Given the description of an element on the screen output the (x, y) to click on. 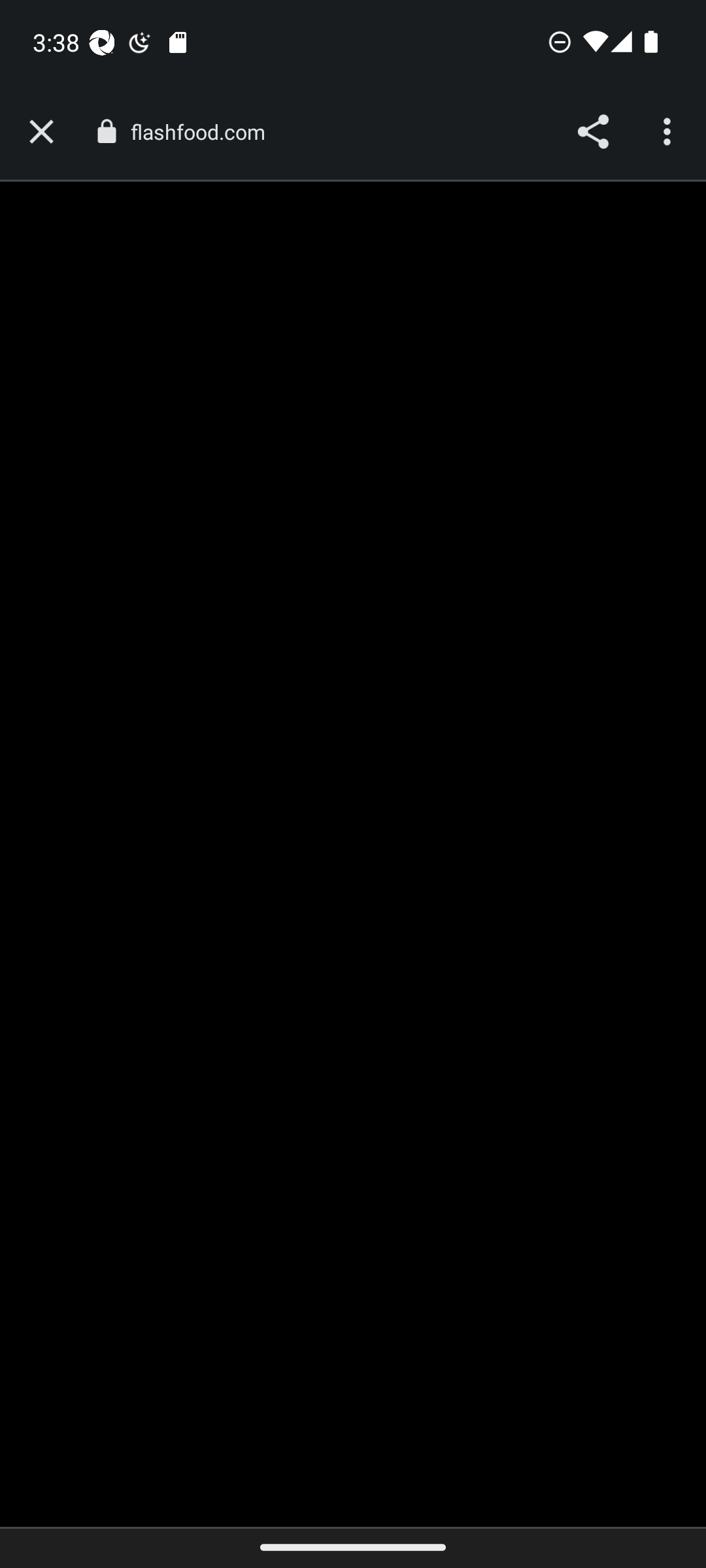
Close tab (41, 131)
Share (592, 131)
More options (669, 131)
Connection is secure (106, 131)
flashfood.com (204, 131)
